Given the description of an element on the screen output the (x, y) to click on. 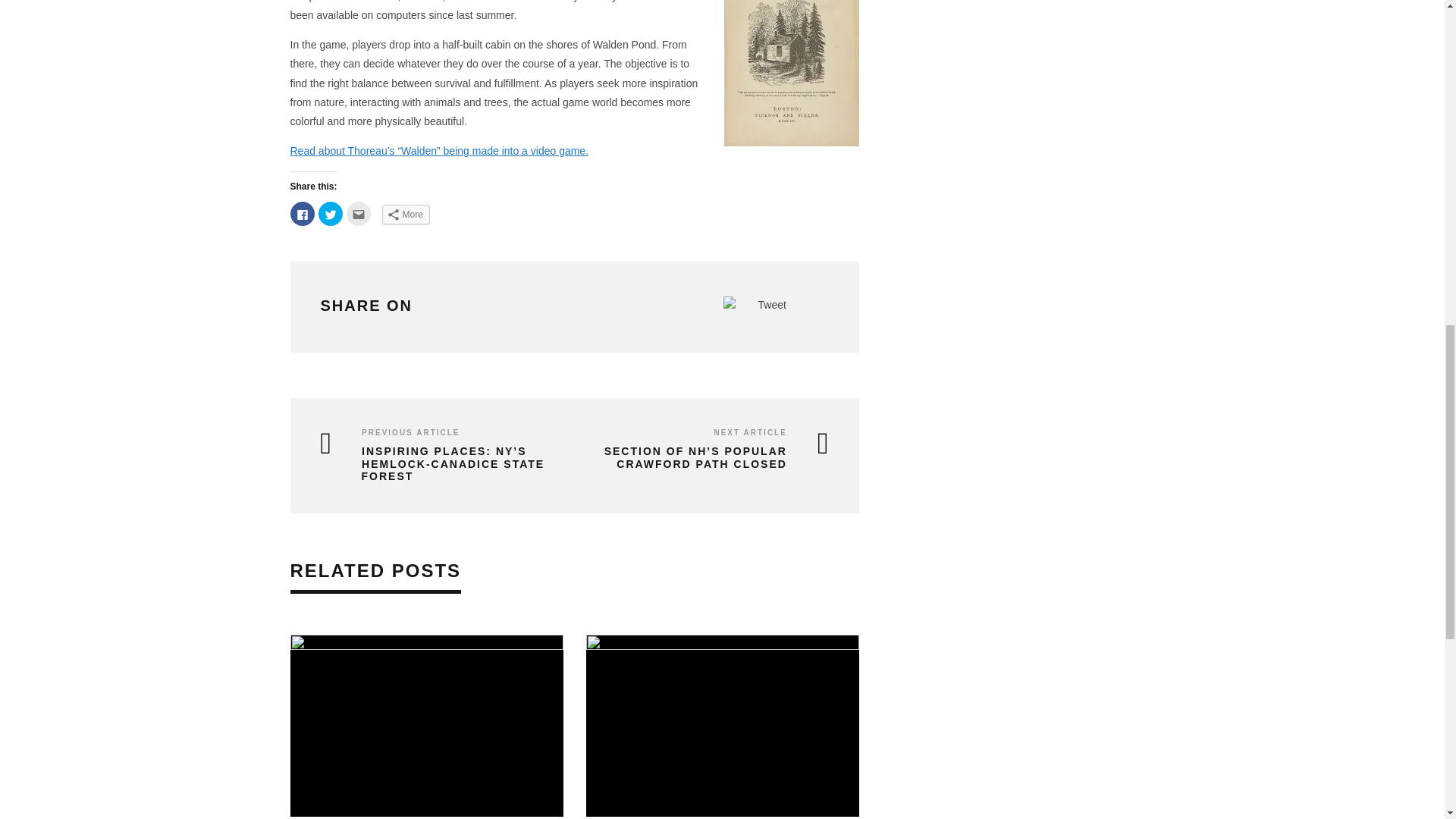
Click to share on Facebook (301, 213)
NEXT ARTICLE (749, 432)
PREVIOUS ARTICLE (410, 432)
Click to share on Twitter (330, 213)
More (405, 214)
Click to email this to a friend (357, 213)
Tweet (772, 304)
